Given the description of an element on the screen output the (x, y) to click on. 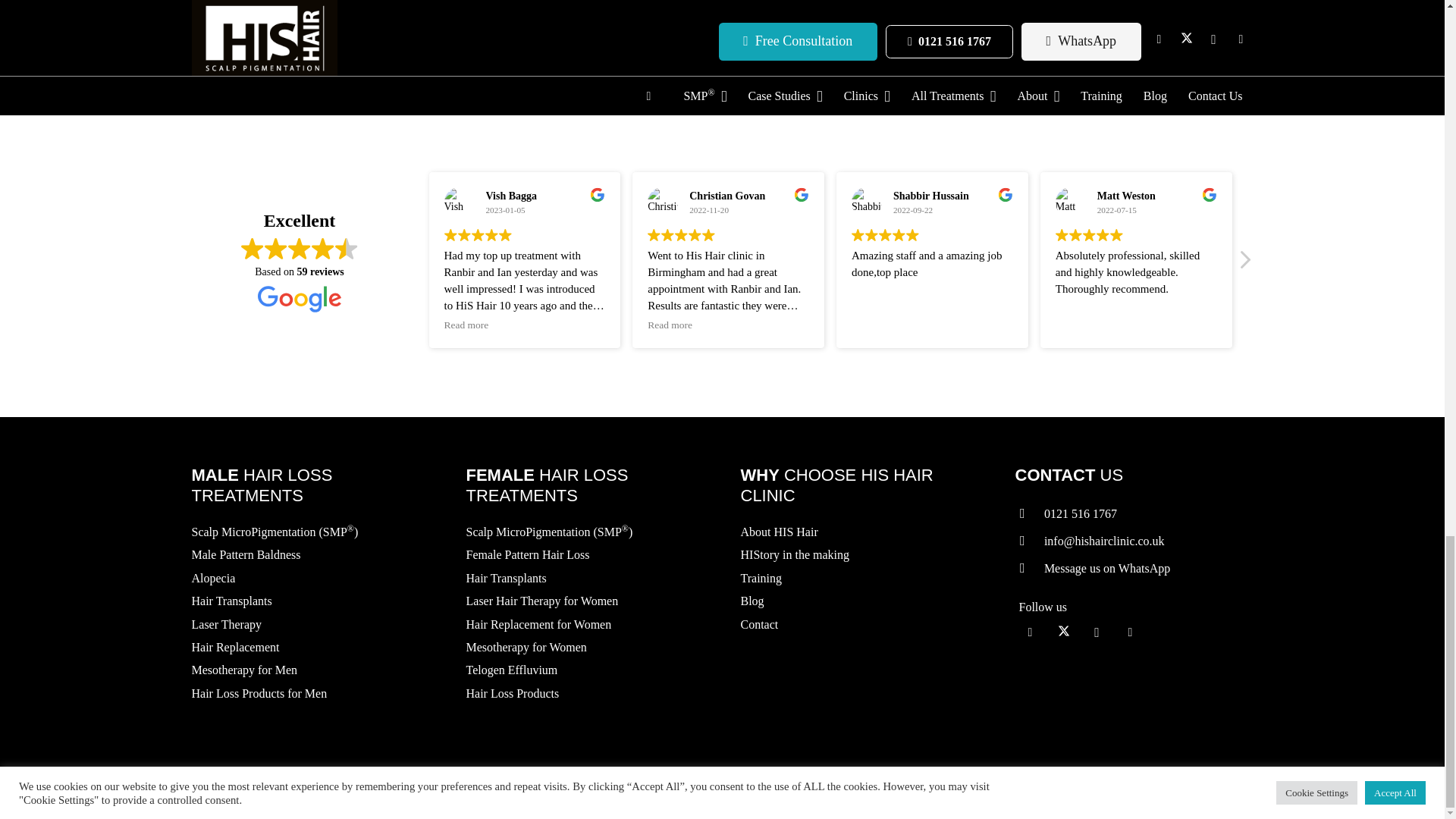
A hair transplant for Calum Best (364, 36)
